Given the description of an element on the screen output the (x, y) to click on. 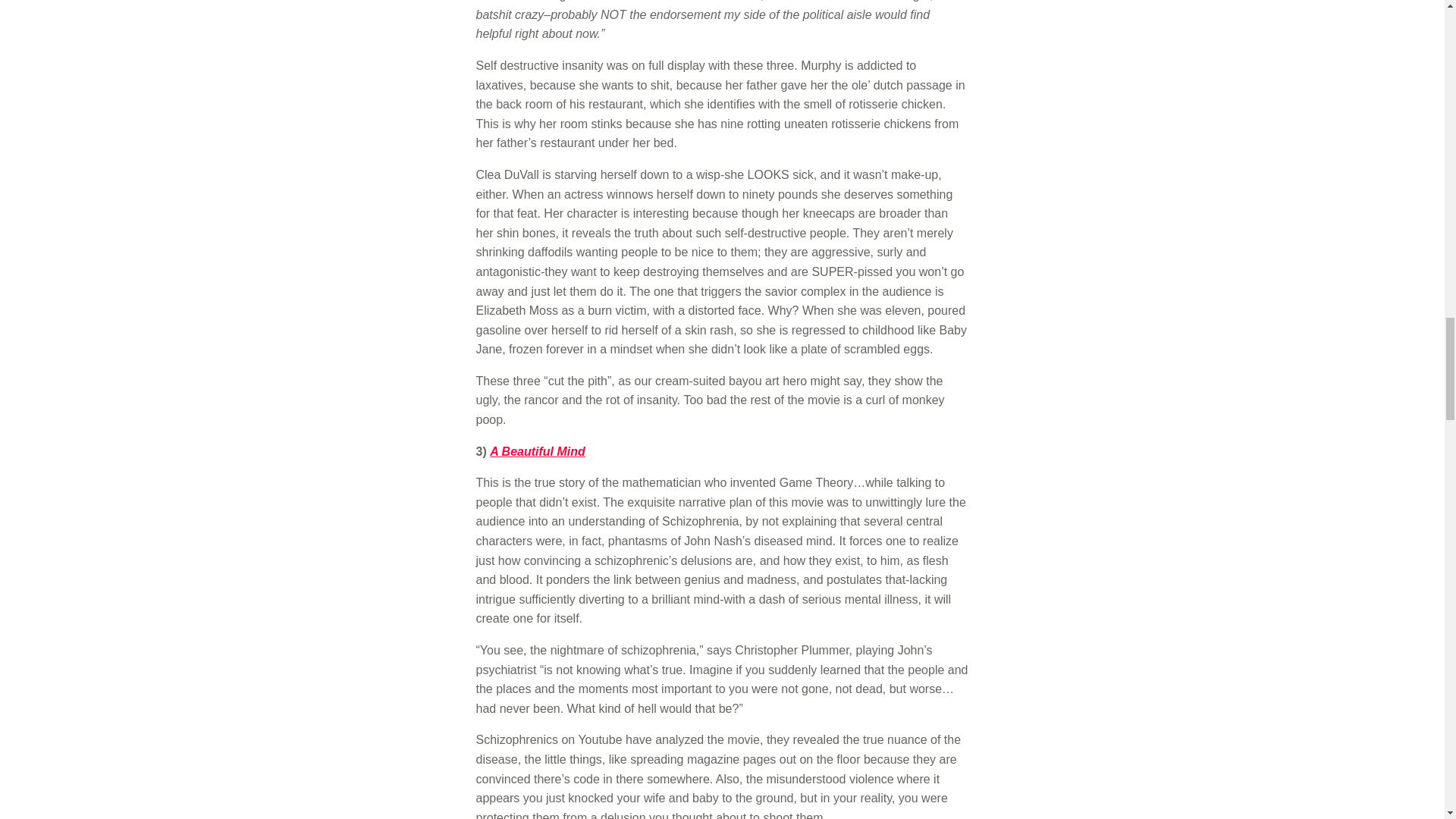
A Beautiful Mind (537, 451)
